Given the description of an element on the screen output the (x, y) to click on. 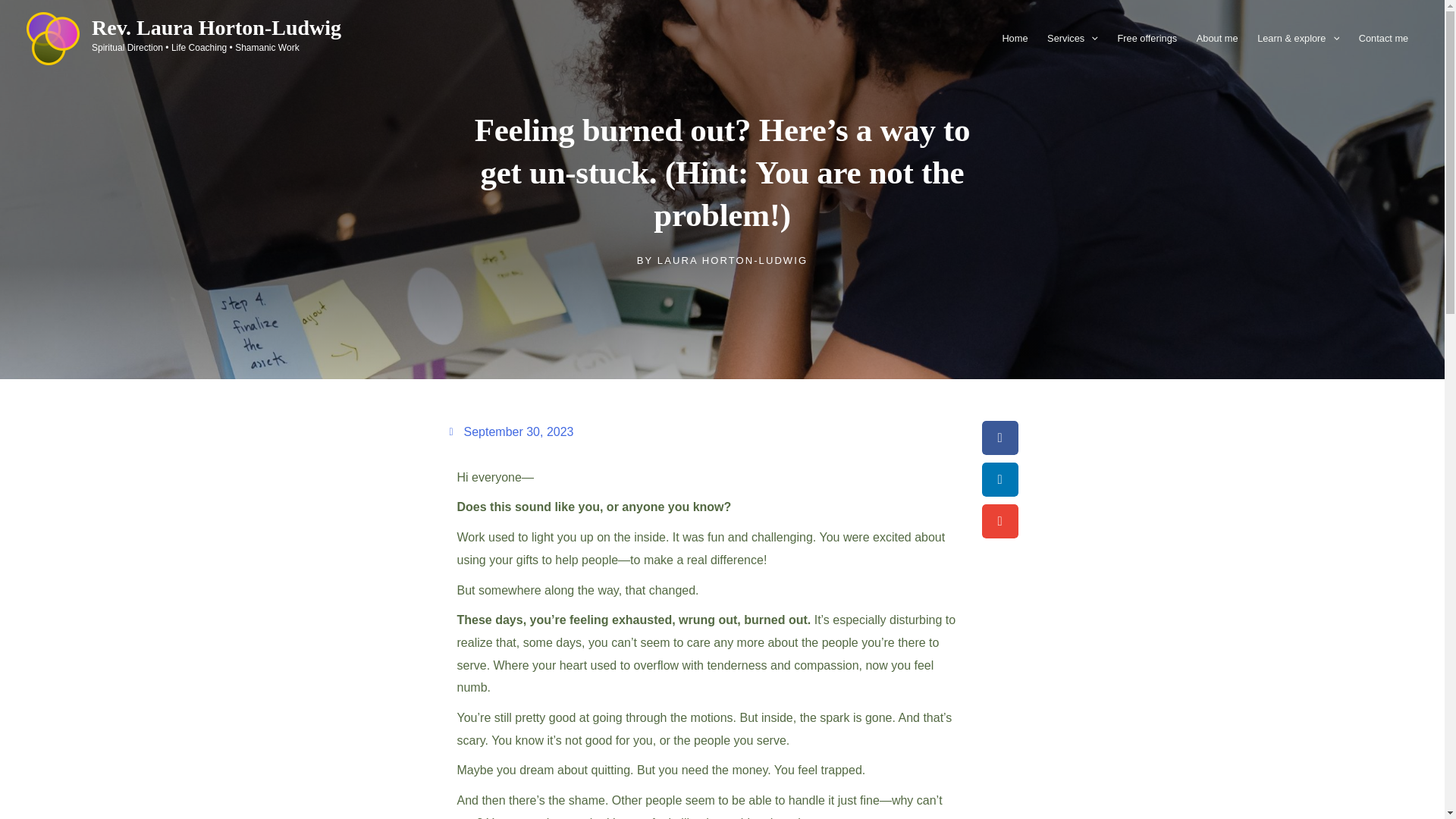
Services (1071, 38)
Free offerings (1147, 38)
Contact me (1383, 38)
Home (1015, 38)
About me (1216, 38)
Rev. Laura Horton-Ludwig (215, 27)
